Given the description of an element on the screen output the (x, y) to click on. 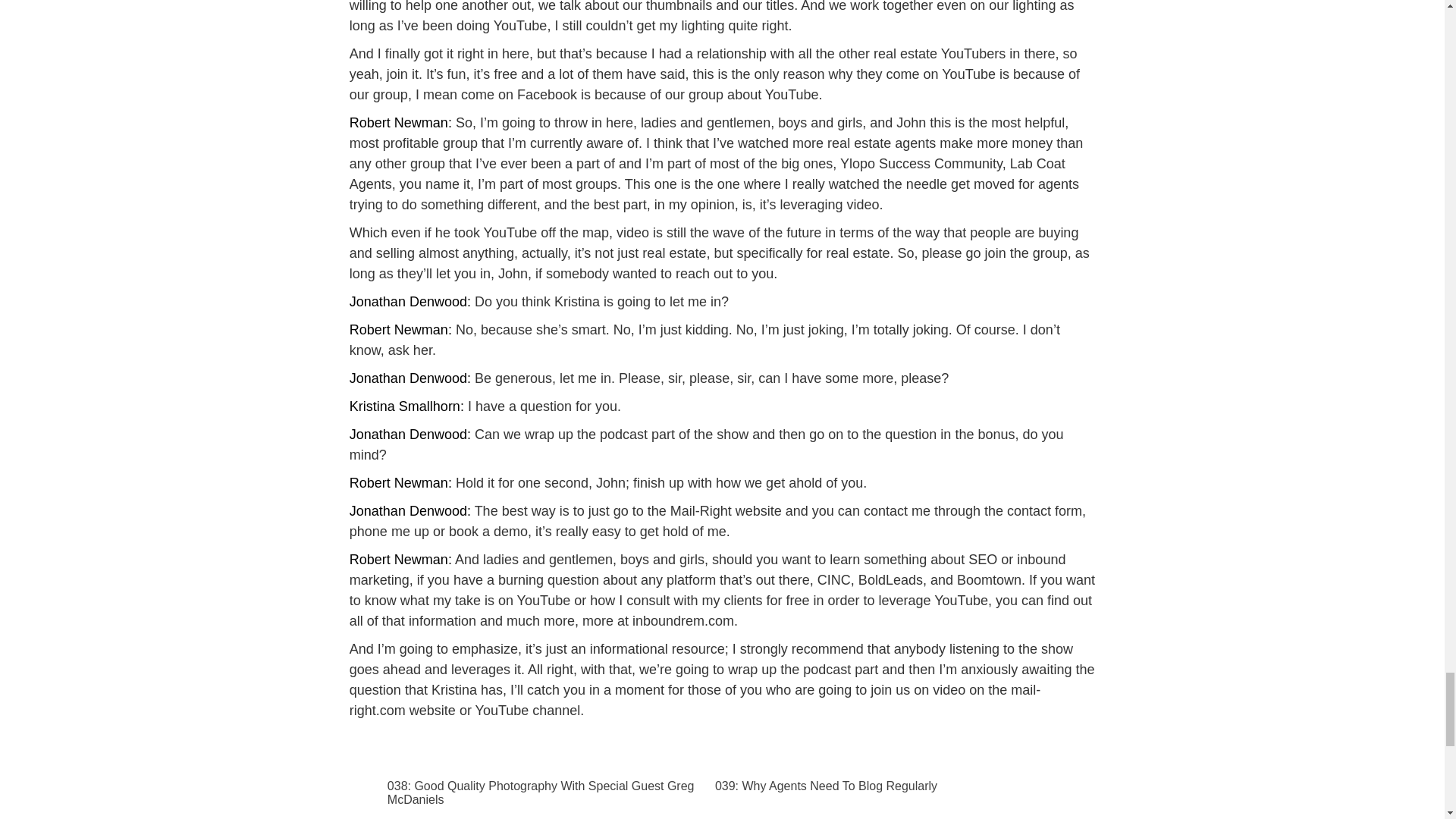
039: Why Agents Need To Blog Regularly (868, 786)
039:  Why Agents Need To Blog Regularly (868, 786)
